Given the description of an element on the screen output the (x, y) to click on. 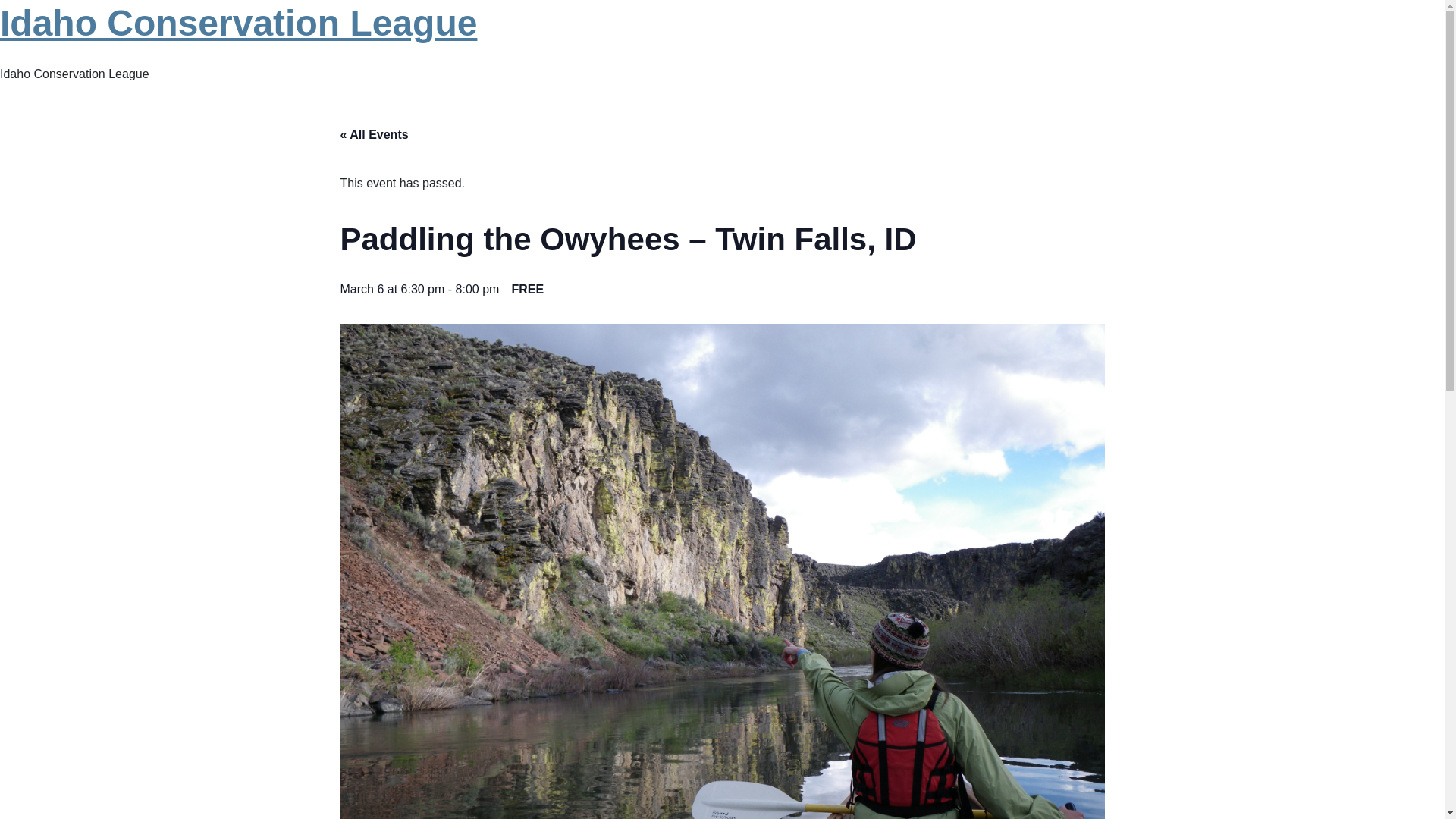
Idaho Conservation League (238, 23)
